Given the description of an element on the screen output the (x, y) to click on. 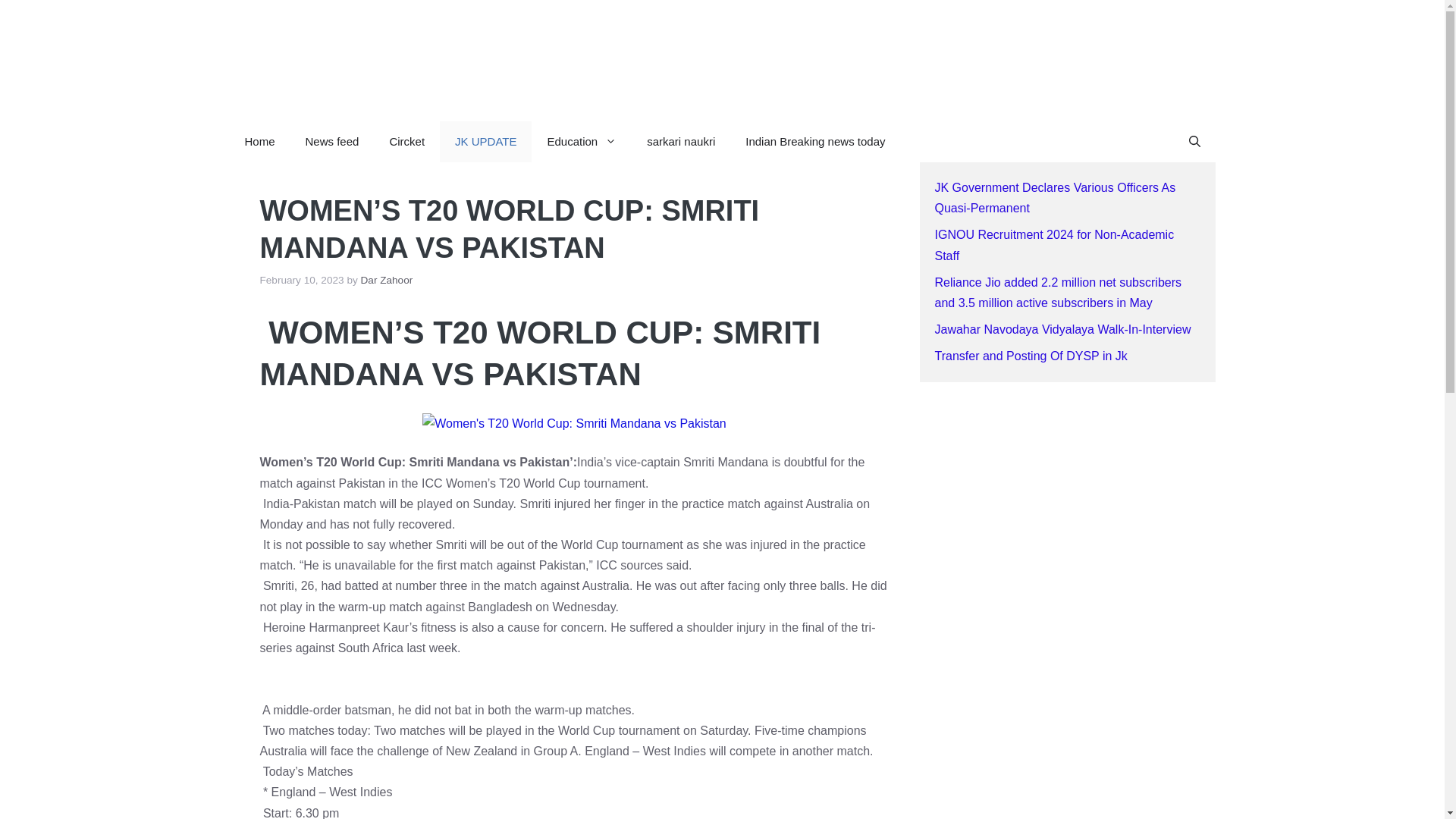
IGNOU Recruitment 2024 for Non-Academic Staff (1053, 244)
Jawahar Navodaya Vidyalaya Walk-In-Interview (1062, 328)
Indian Breaking news today (814, 141)
Home (258, 141)
View all posts by Dar Zahoor (387, 279)
Dar Zahoor (387, 279)
Circket (406, 141)
JK UPDATE (485, 141)
Education (581, 141)
Women's T20 World Cup: Smriti Mandana vs Pakistan (574, 423)
JK Government Declares Various Officers As Quasi-Permanent (1054, 197)
sarkari naukri (680, 141)
News feed (331, 141)
Transfer and Posting Of DYSP in Jk (1030, 355)
